Given the description of an element on the screen output the (x, y) to click on. 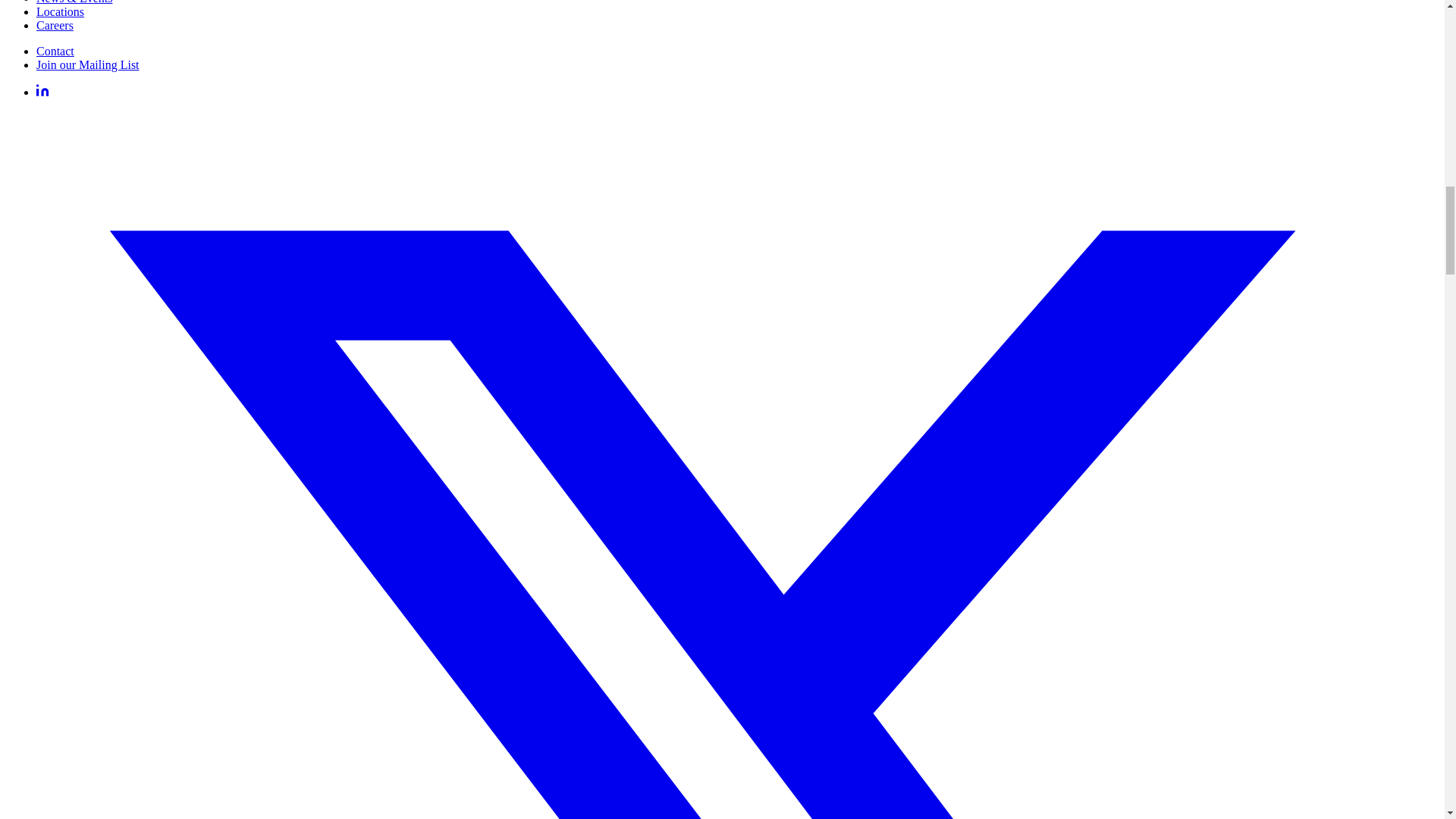
Careers (55, 24)
linkedin (42, 91)
Locations (60, 11)
Join our Mailing List (87, 64)
Contact (55, 51)
